Given the description of an element on the screen output the (x, y) to click on. 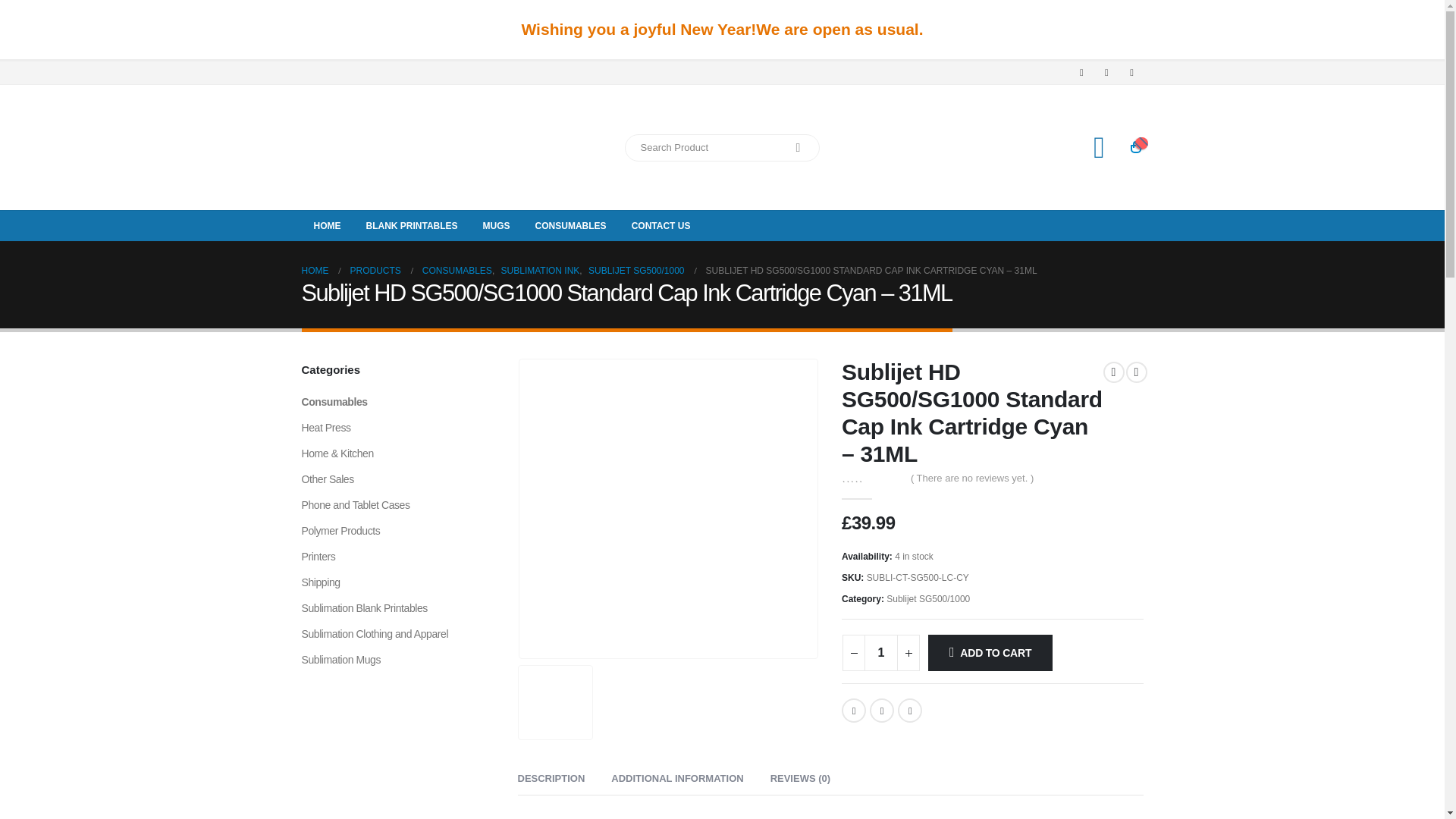
0 (871, 477)
Twitter (881, 710)
My Account (1099, 147)
1 (881, 652)
Facebook (1081, 72)
Facebook (853, 710)
Go to Home Page (315, 270)
Youtube (1131, 72)
Twitter (1106, 72)
Search (798, 147)
CT-SG500-CN (667, 508)
